Given the description of an element on the screen output the (x, y) to click on. 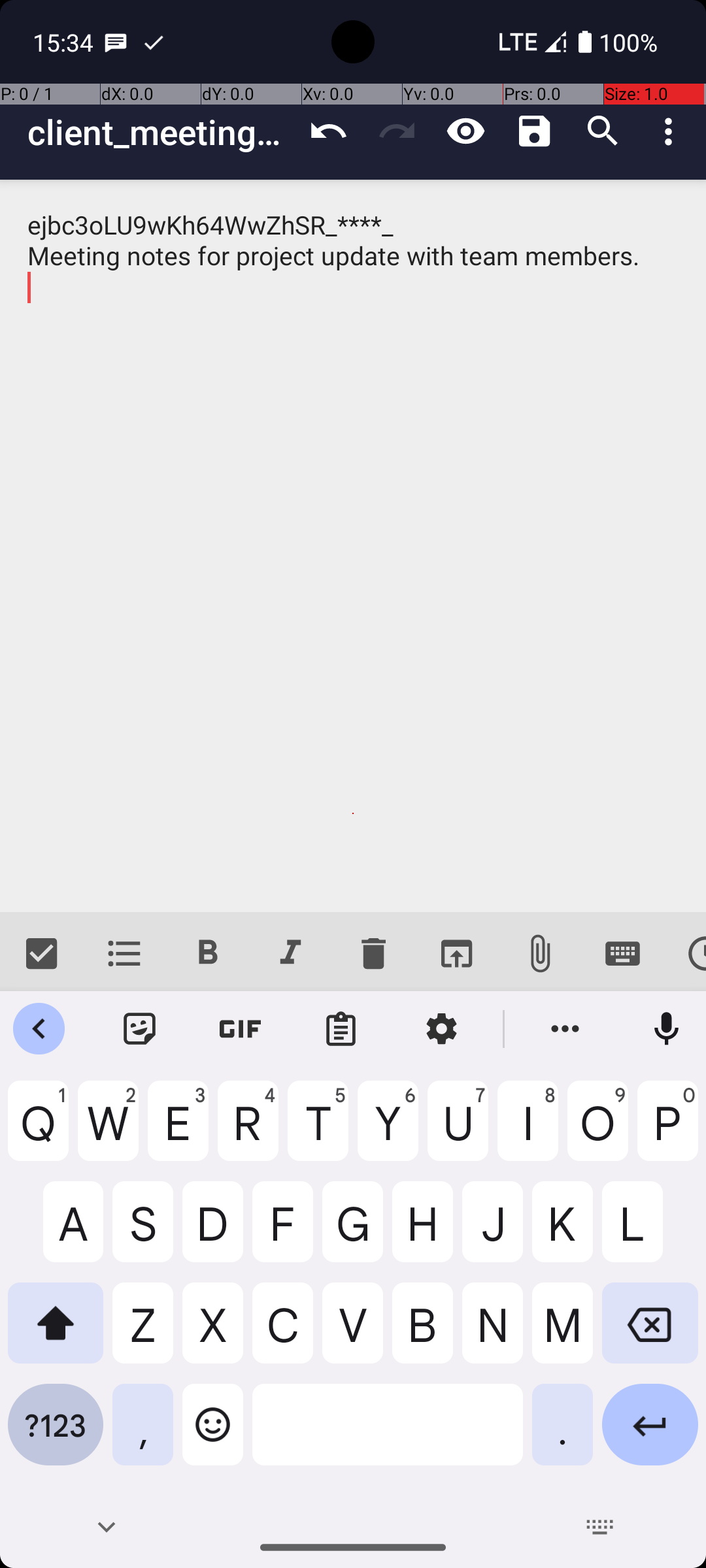
client_meetings_schedule_2023_08_13 Element type: android.widget.TextView (160, 131)
ejbc3oLU9wKh64WwZhSR_****_
Meeting notes for project update with team members.
 Element type: android.widget.EditText (353, 545)
